Given the description of an element on the screen output the (x, y) to click on. 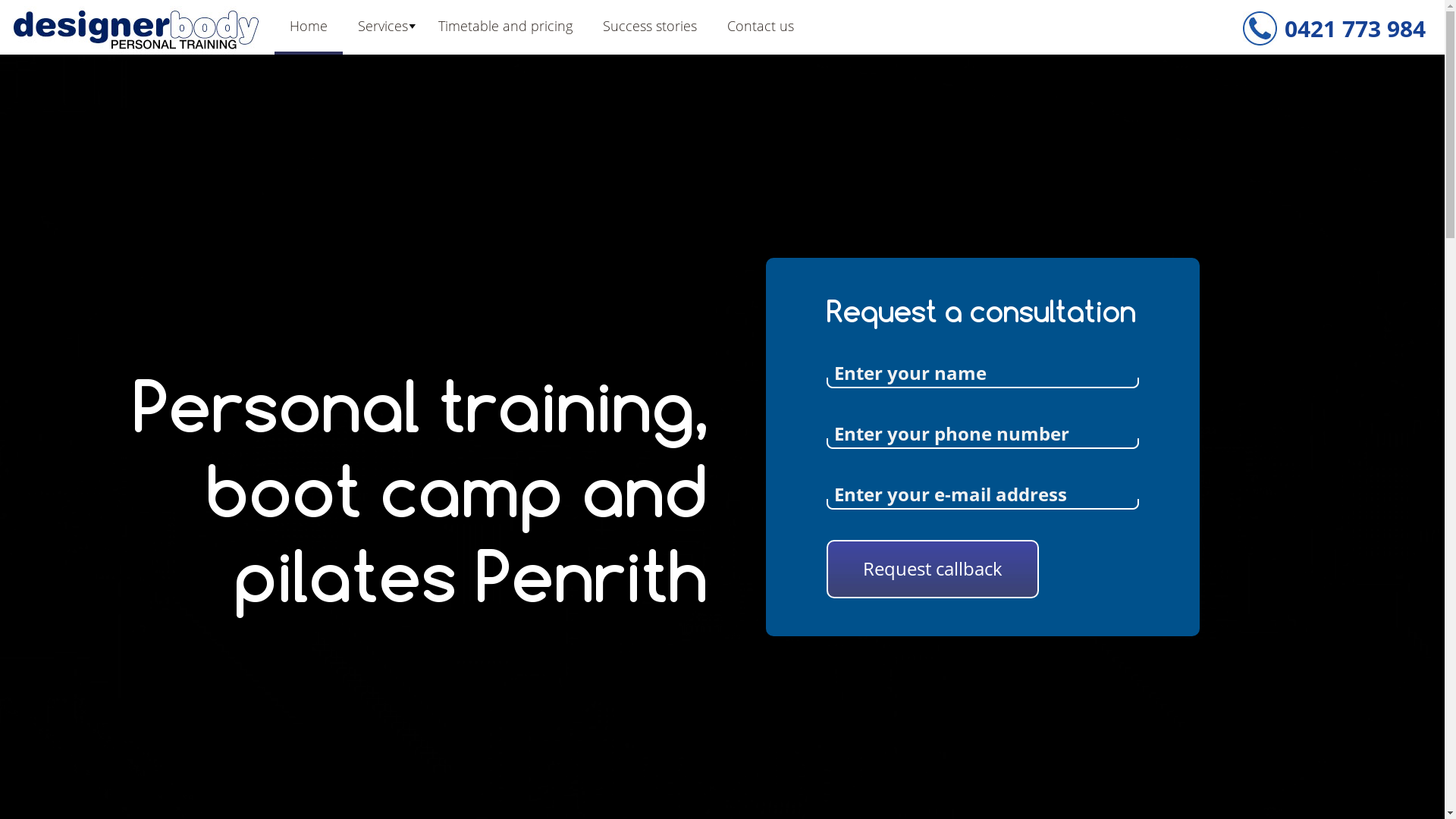
Services Element type: text (382, 25)
Contact us Element type: text (760, 25)
Success stories Element type: text (649, 25)
Home Element type: text (308, 25)
0421 773 984 Element type: text (1354, 28)
Timetable and pricing Element type: text (505, 25)
Request callback Element type: text (932, 568)
